Given the description of an element on the screen output the (x, y) to click on. 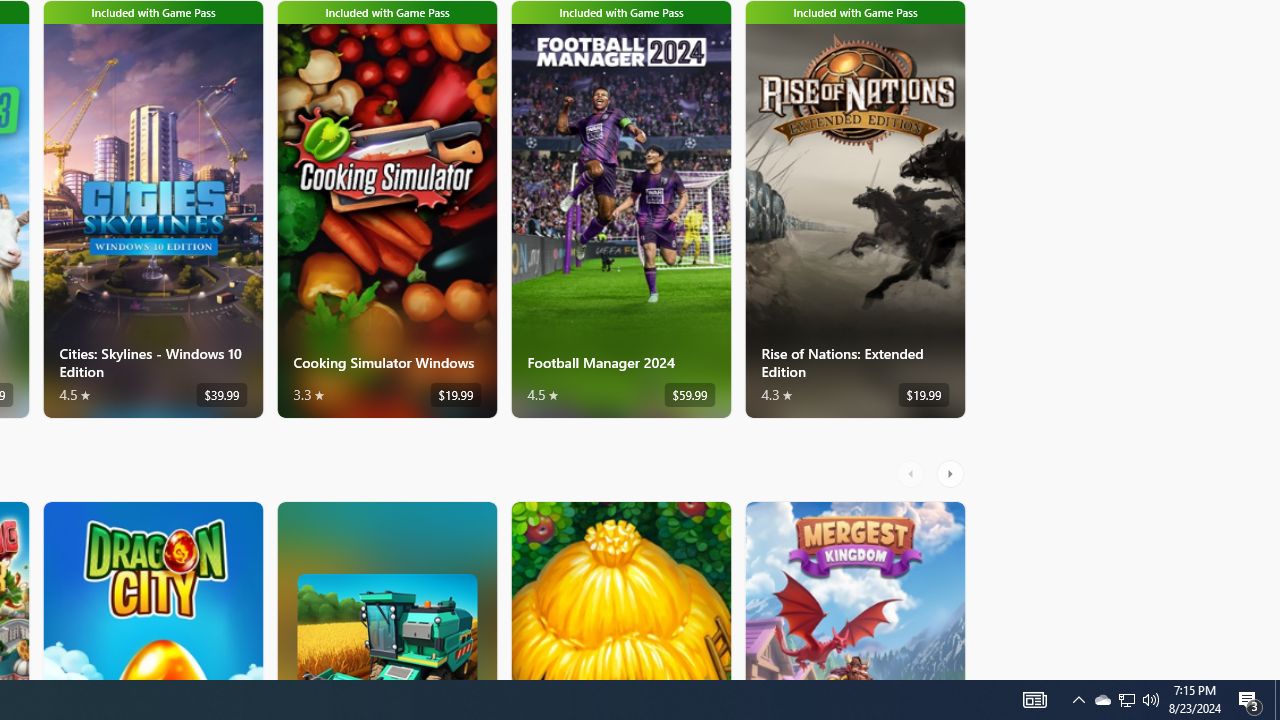
Dragon City. Average rating of 4.5 out of five stars. Free   (152, 590)
The Tribez. Average rating of 4.6 out of five stars. Free   (620, 590)
AutomationID: LeftScrollButton (913, 473)
AutomationID: RightScrollButton (952, 473)
